Given the description of an element on the screen output the (x, y) to click on. 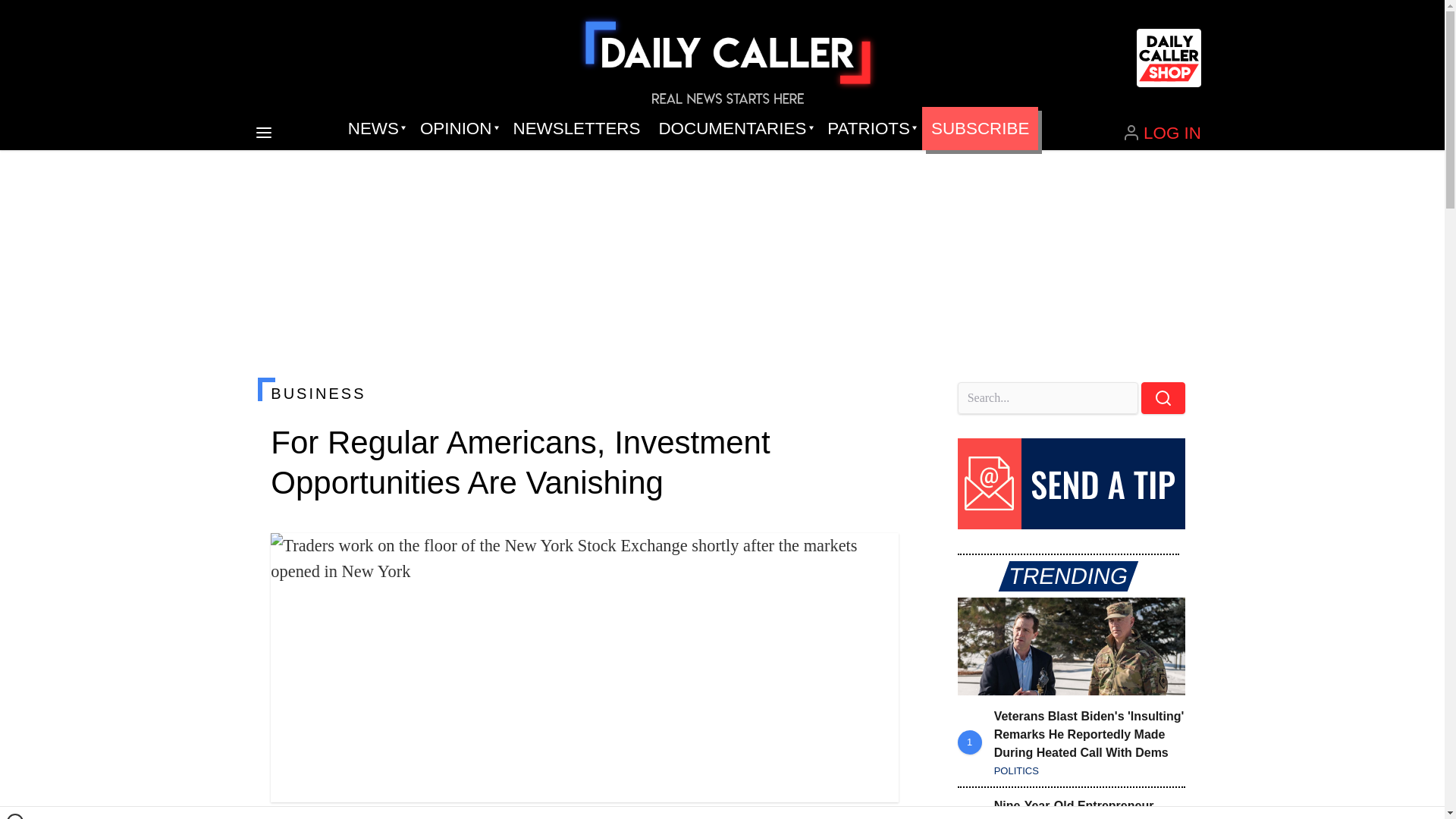
NEWSLETTERS (576, 128)
SUBSCRIBE (979, 128)
NEWS (374, 128)
Toggle fullscreen (874, 556)
PATRIOTS (869, 128)
BUSINESS (584, 393)
OPINION (456, 128)
Close window (14, 816)
DOCUMENTARIES (733, 128)
